Given the description of an element on the screen output the (x, y) to click on. 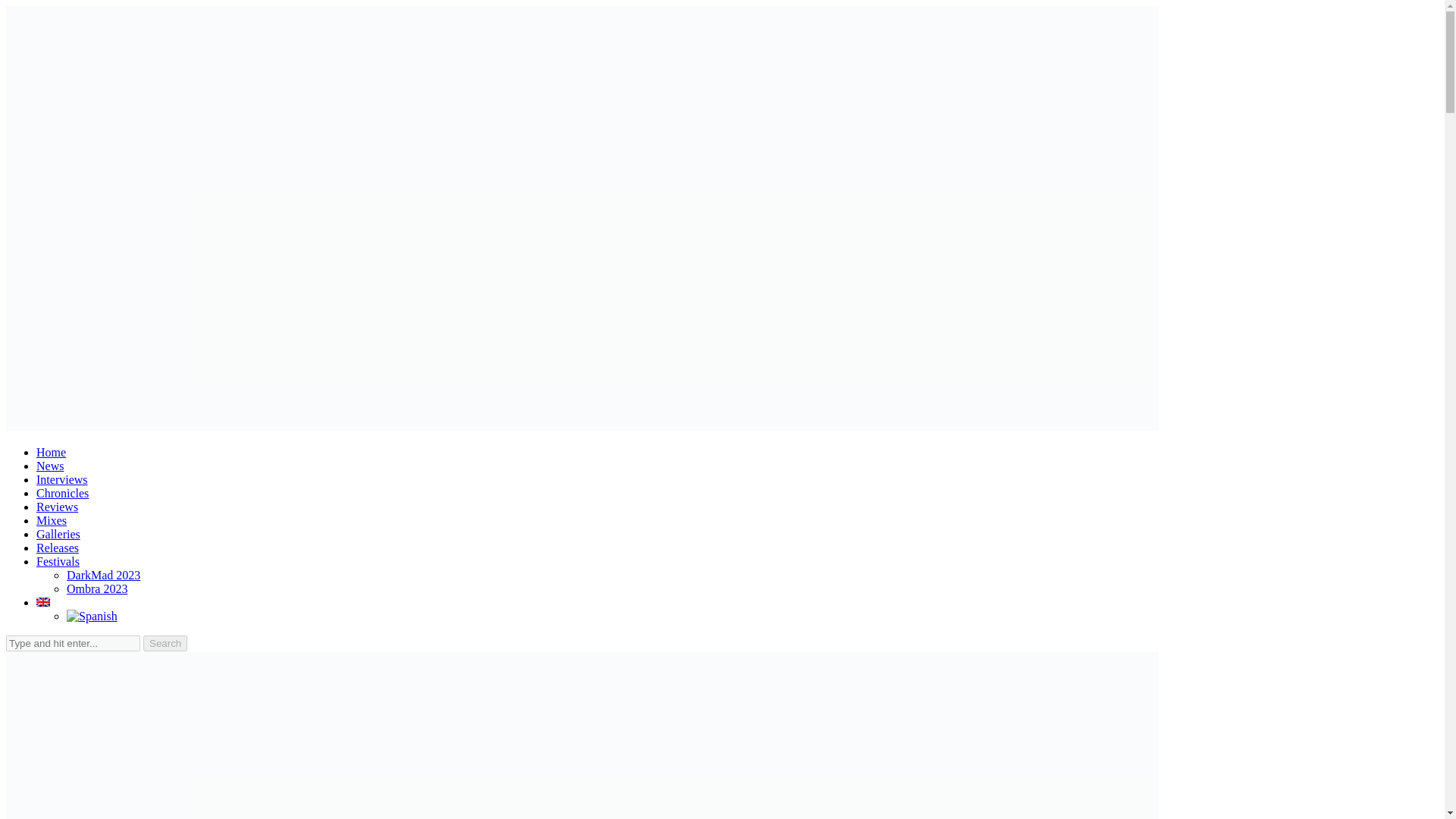
Galleries (58, 533)
Mixes (51, 520)
Home (50, 451)
Search (164, 643)
News (50, 465)
Interviews (61, 479)
Festivals (58, 561)
DarkMad 2023 (102, 574)
Releases (57, 547)
Ombra 2023 (97, 588)
Chronicles (62, 492)
Reviews (57, 506)
